Given the description of an element on the screen output the (x, y) to click on. 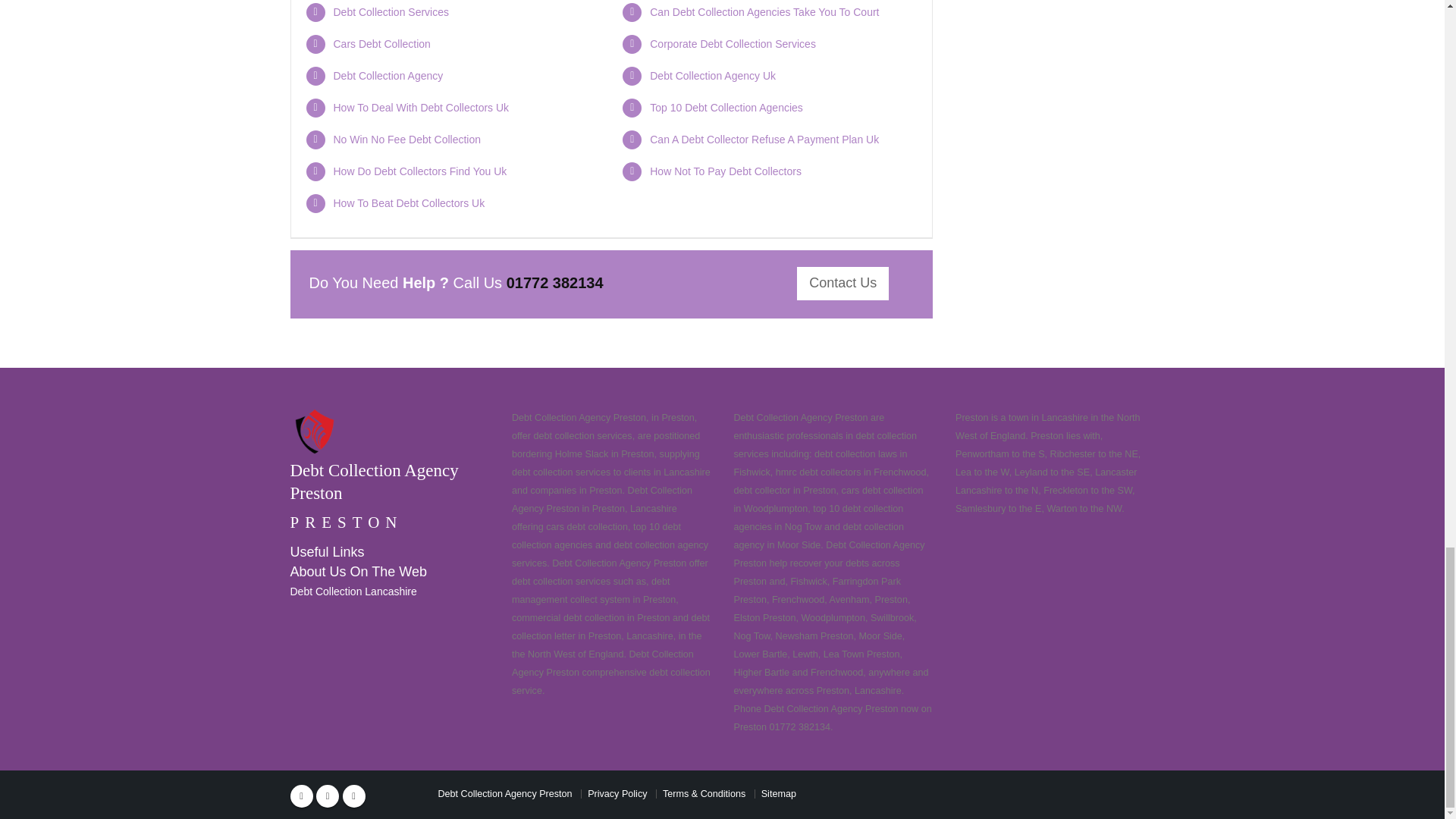
Facebook (301, 795)
Linkedin (353, 795)
Twitter (327, 795)
